Given the description of an element on the screen output the (x, y) to click on. 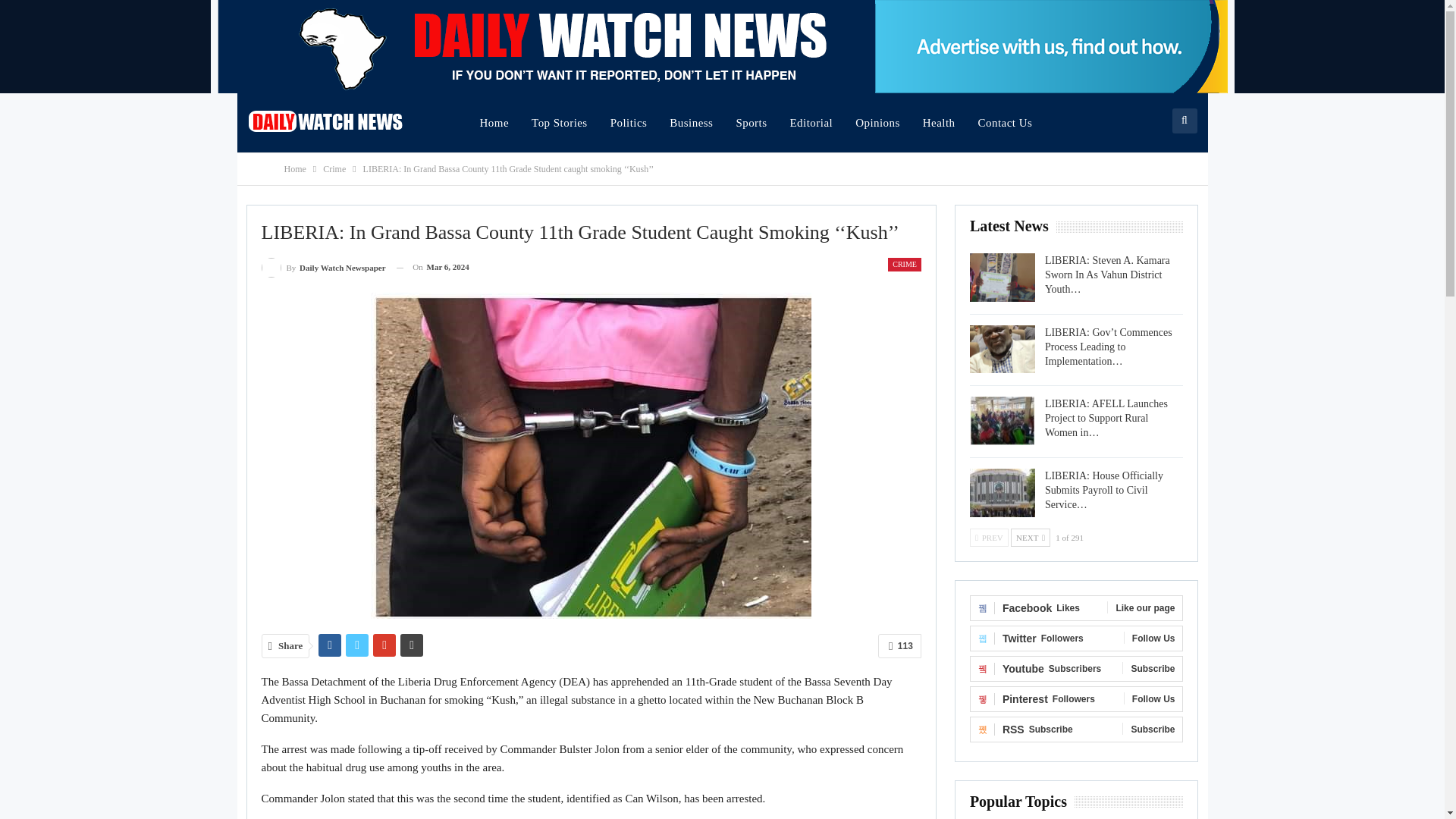
By Daily Watch Newspaper (322, 267)
Contact Us (1004, 122)
Browse Author Articles (322, 267)
CRIME (904, 264)
Editorial (810, 122)
Politics (628, 122)
Home (294, 168)
Health (938, 122)
Crime (334, 168)
Opinions (877, 122)
